Given the description of an element on the screen output the (x, y) to click on. 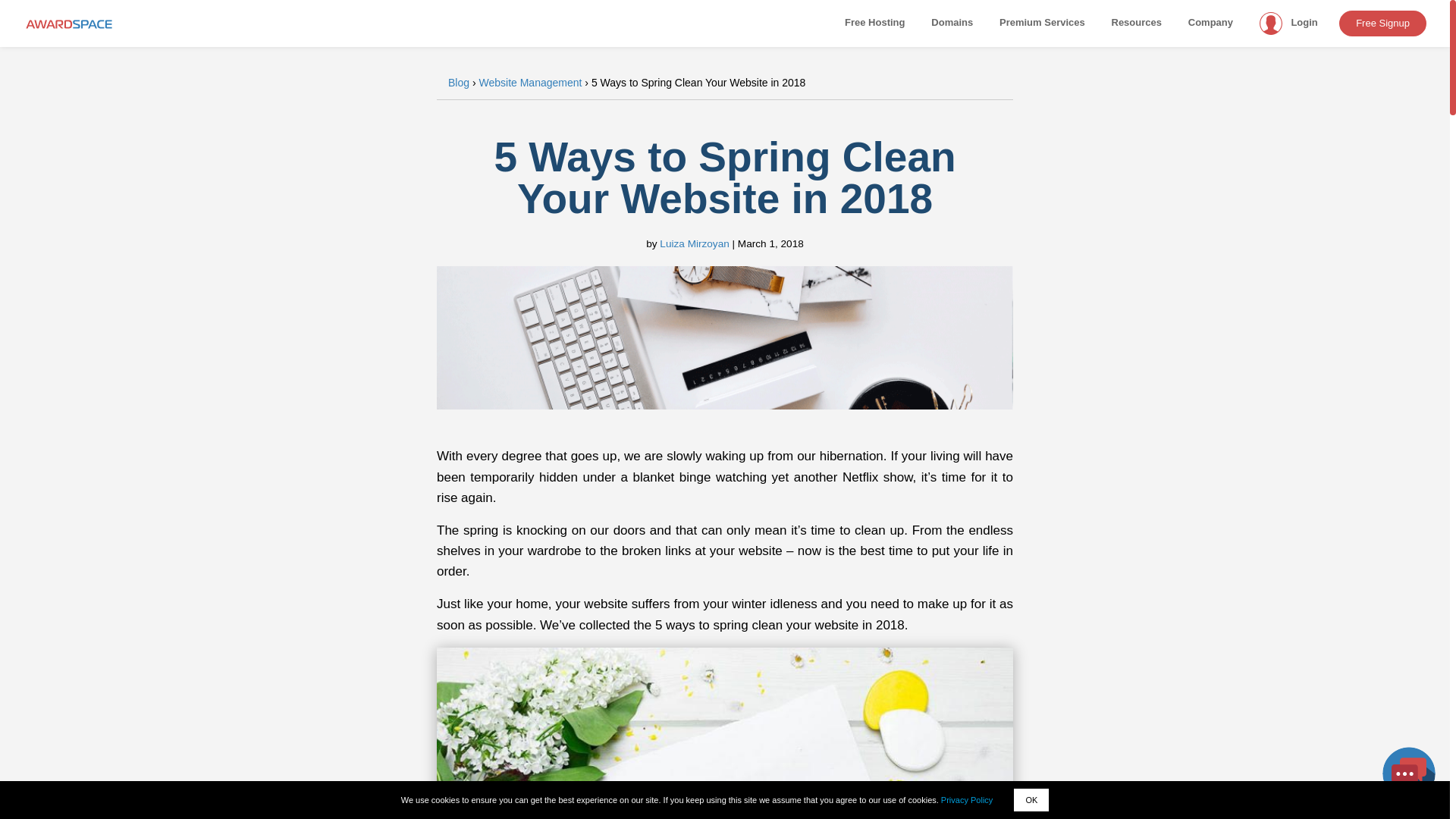
OK (1030, 799)
Free Hosting (875, 21)
Company (1209, 21)
Company (1209, 21)
 Free Hosting (875, 21)
Website Management (529, 82)
Resources (1136, 21)
 Domains (952, 21)
Premium Services (1042, 21)
Premium Services (1042, 21)
Resources (1136, 21)
Domains (952, 21)
Privacy Policy (966, 799)
Free Signup (1382, 23)
Luiza Mirzoyan (694, 243)
